Given the description of an element on the screen output the (x, y) to click on. 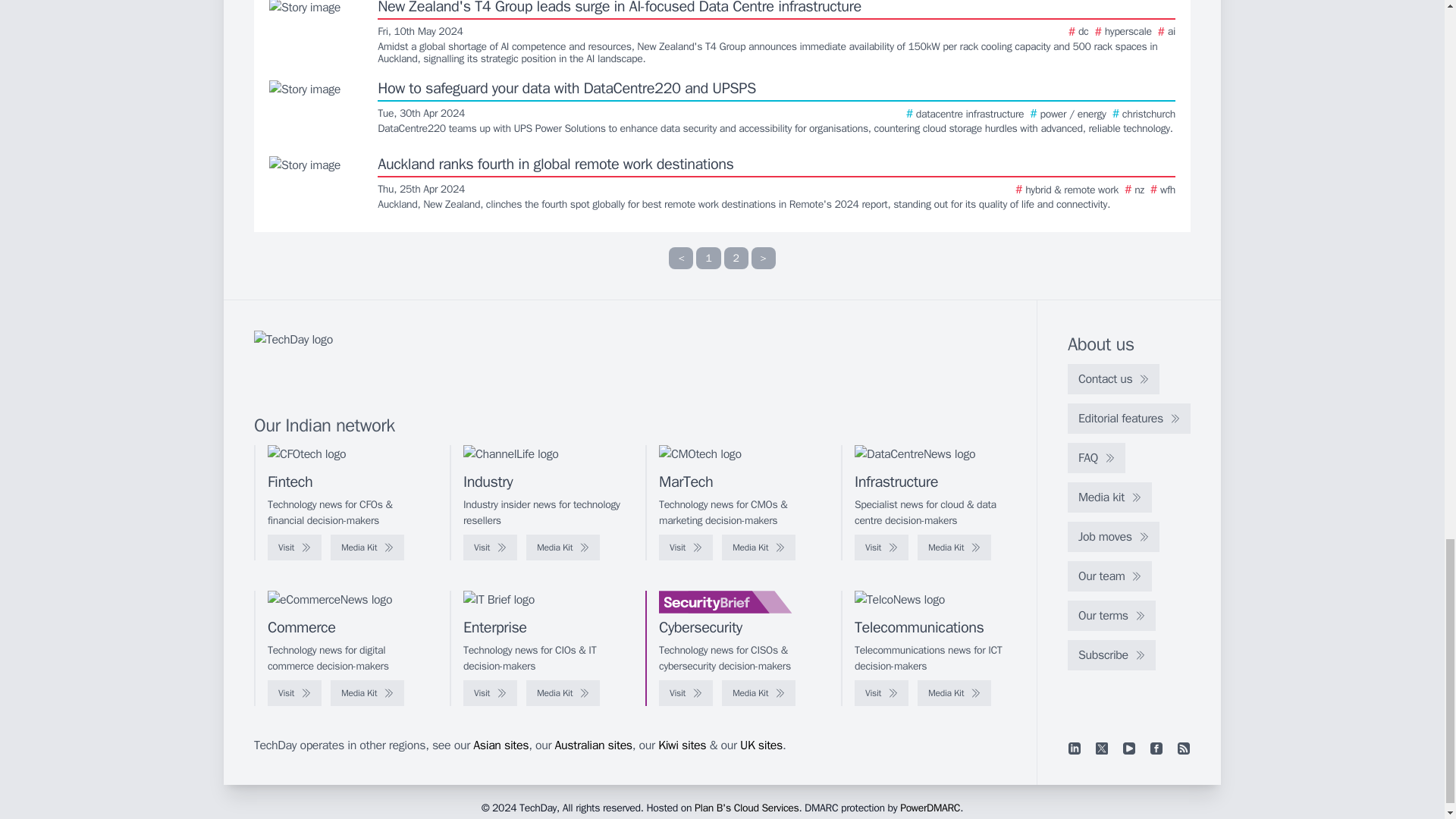
2 (735, 258)
Visit (489, 547)
Media Kit (562, 547)
Visit (294, 547)
Media Kit (367, 547)
1 (707, 258)
